Given the description of an element on the screen output the (x, y) to click on. 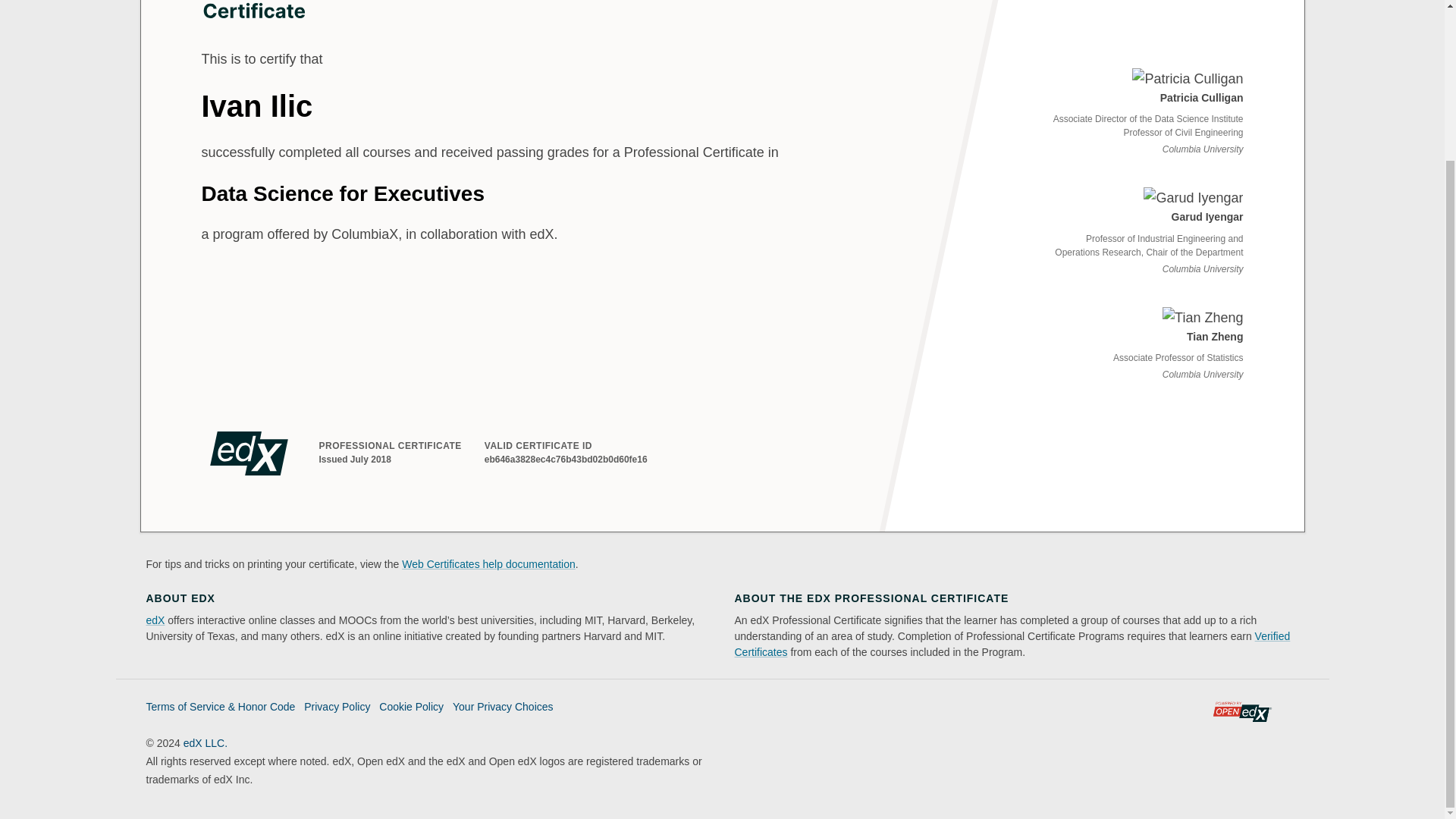
edX LLC. (205, 743)
Web Certificates help documentation (488, 563)
Privacy Policy (336, 706)
Cookie Policy (411, 706)
Your Privacy Choices (502, 706)
edX (154, 620)
Verified Certificates (1011, 643)
